Given the description of an element on the screen output the (x, y) to click on. 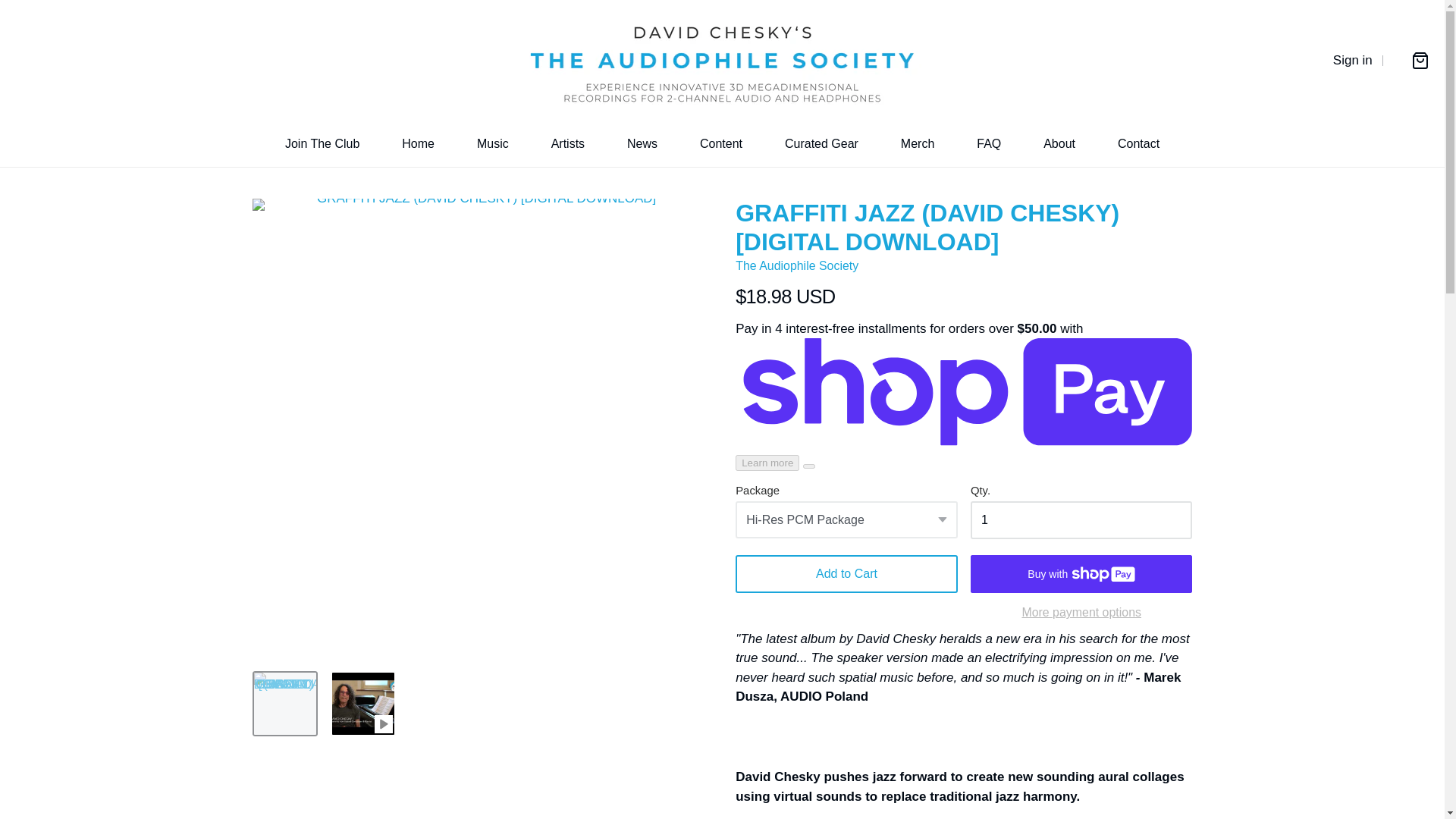
Music (492, 143)
1 (1081, 519)
Sign in (1353, 60)
Home (417, 143)
News (642, 143)
The Audiophile Society (721, 60)
Curated Gear (821, 143)
Artists (568, 143)
Content (721, 143)
Join The Club (322, 143)
The Audiophile Society (797, 265)
